Given the description of an element on the screen output the (x, y) to click on. 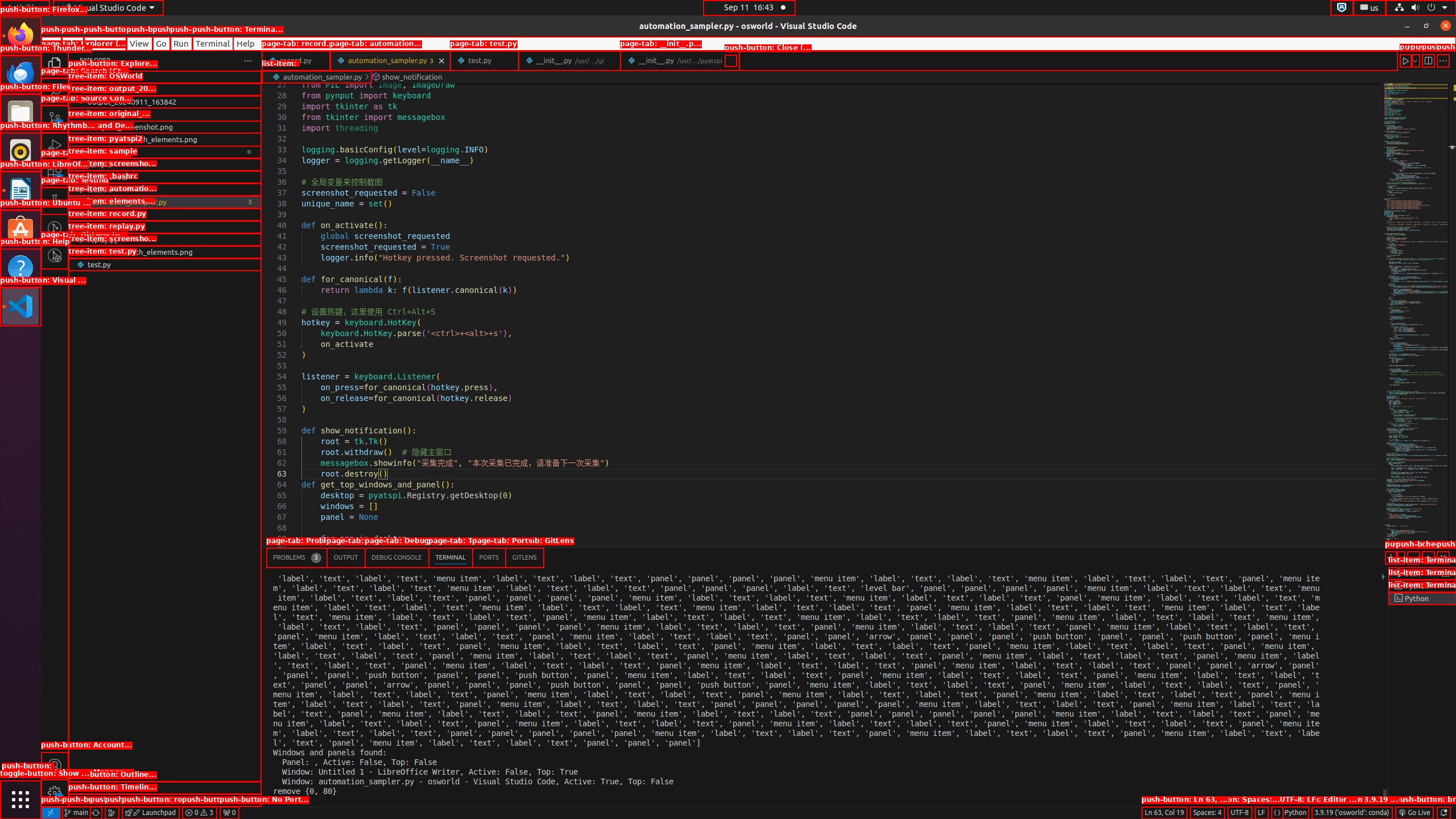
No Ports Forwarded Element type: push-button (228, 812)
Files Explorer Element type: tree (164, 432)
UTF-8 Element type: push-button (1239, 812)
Views and More Actions... Element type: push-button (1413, 557)
